Given the description of an element on the screen output the (x, y) to click on. 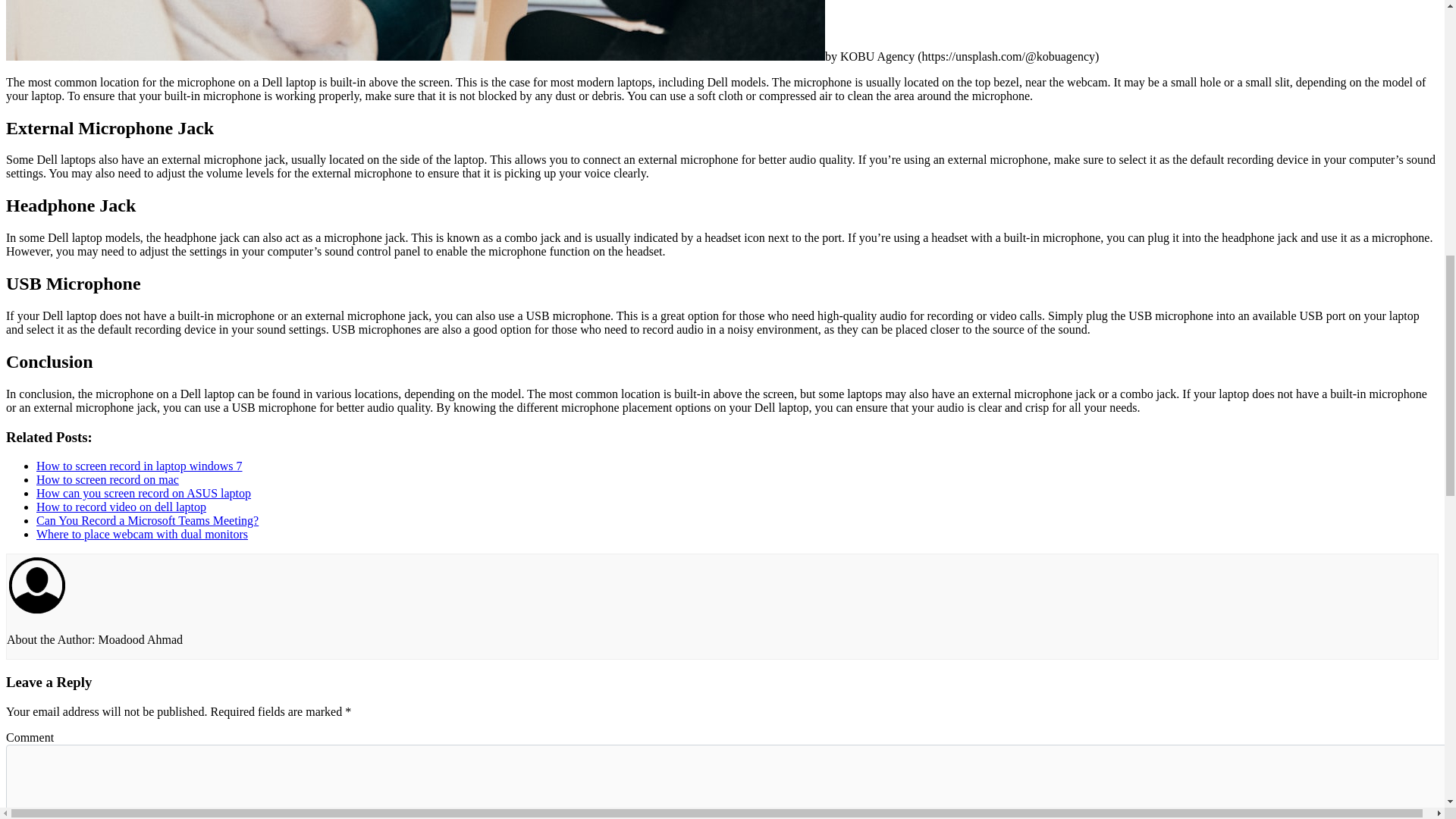
How to screen record in laptop windows 7 (139, 465)
How to screen record on mac (107, 479)
How can you screen record on ASUS laptop (143, 492)
Where to place webcam with dual monitors (141, 533)
How to record video on dell laptop (121, 506)
Can You Record a Microsoft Teams Meeting? (147, 520)
